Given the description of an element on the screen output the (x, y) to click on. 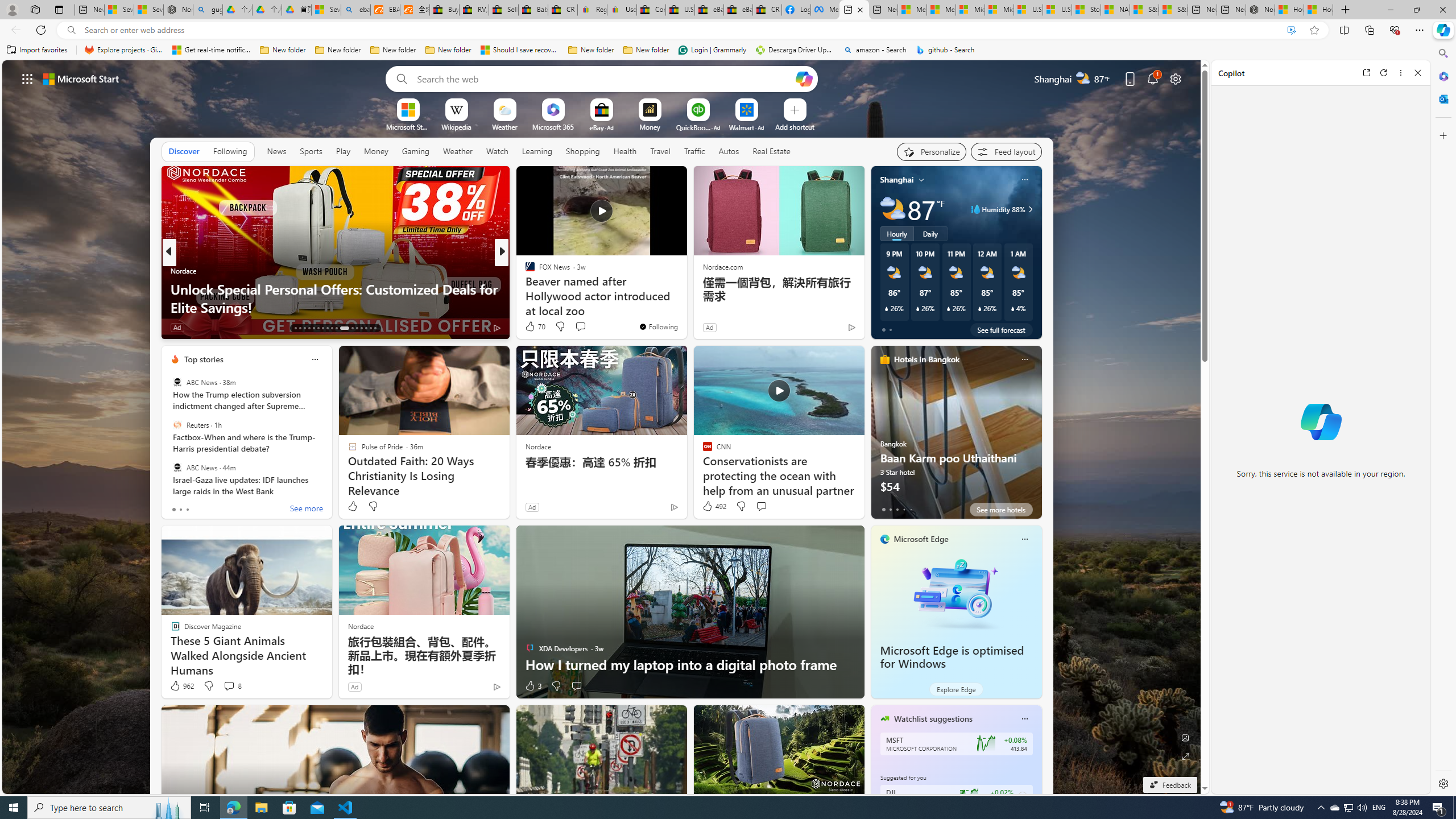
Refresh (1383, 72)
Discover (183, 151)
Shopping (582, 151)
Tab actions menu (58, 9)
2 hours of Extreme Shark Encounters (684, 307)
Microsoft Edge (921, 538)
guge yunpan - Search (207, 9)
Real Estate (771, 151)
Is It Better to Work Out with More Weight or More Reps? (684, 298)
Daily (929, 233)
Personal Profile (12, 9)
81 Like (530, 327)
